Given the description of an element on the screen output the (x, y) to click on. 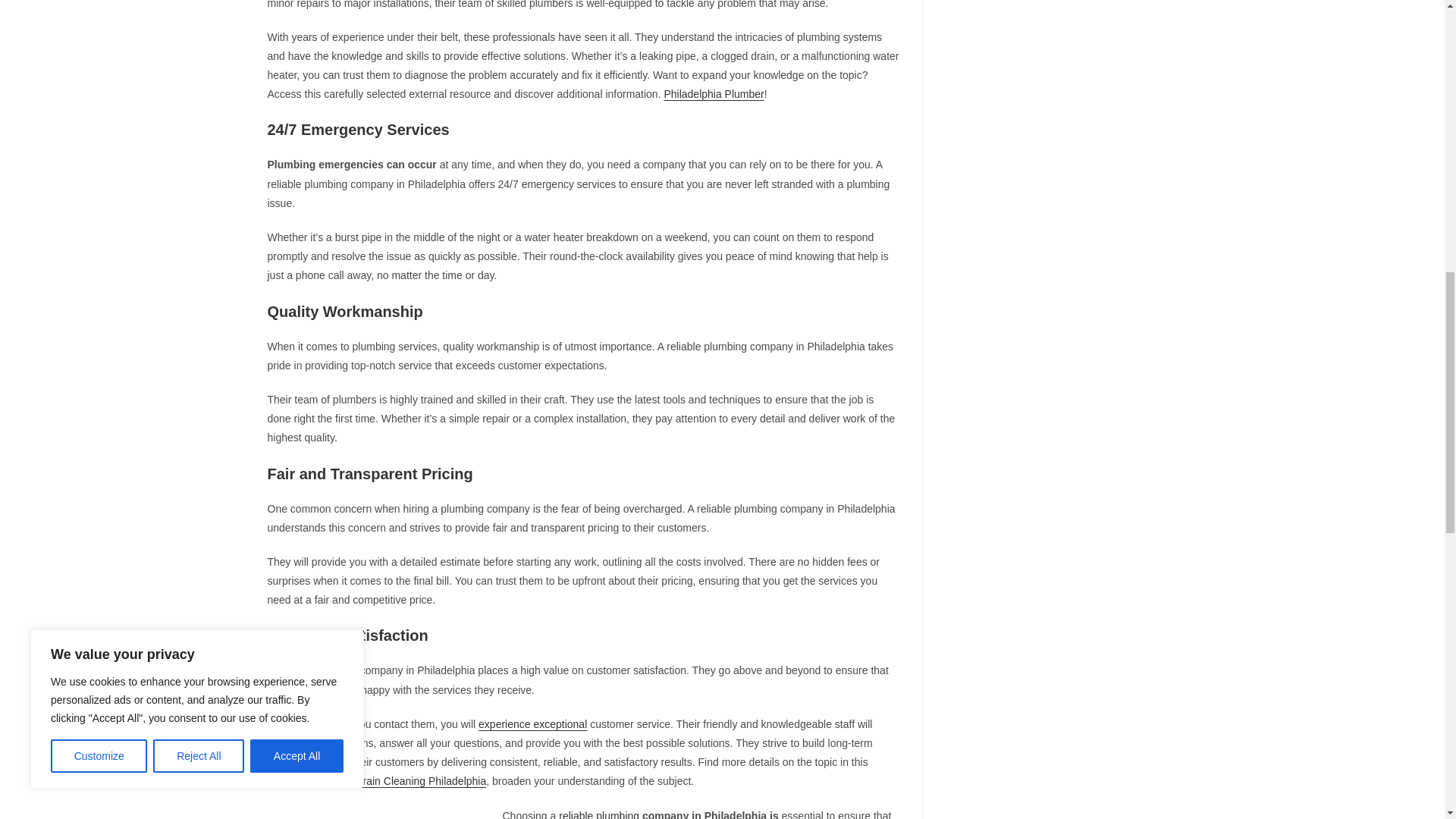
Drain Cleaning Philadelphia (420, 780)
reliable plumbing (599, 814)
experience exceptional (532, 724)
Philadelphia Plumber (712, 93)
